Given the description of an element on the screen output the (x, y) to click on. 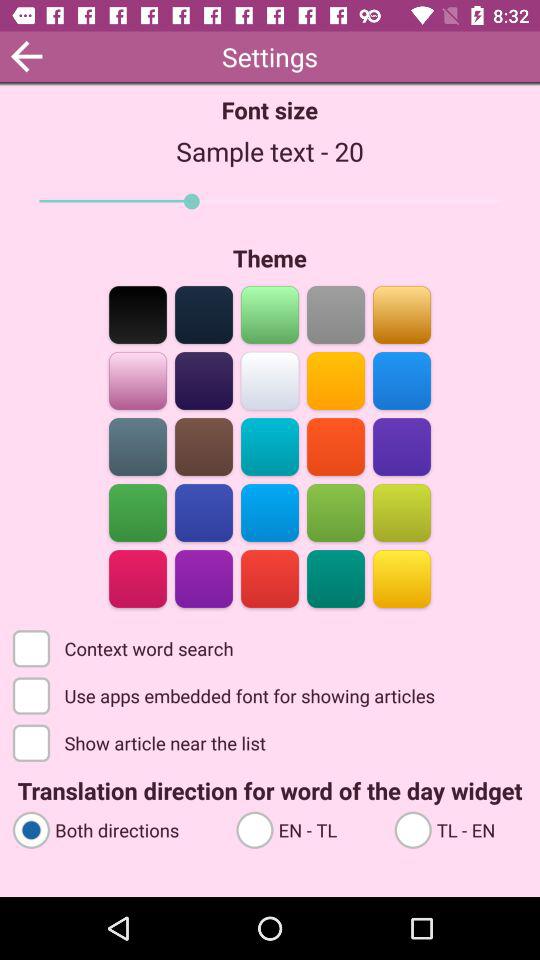
switches theme color to selected option (269, 379)
